Given the description of an element on the screen output the (x, y) to click on. 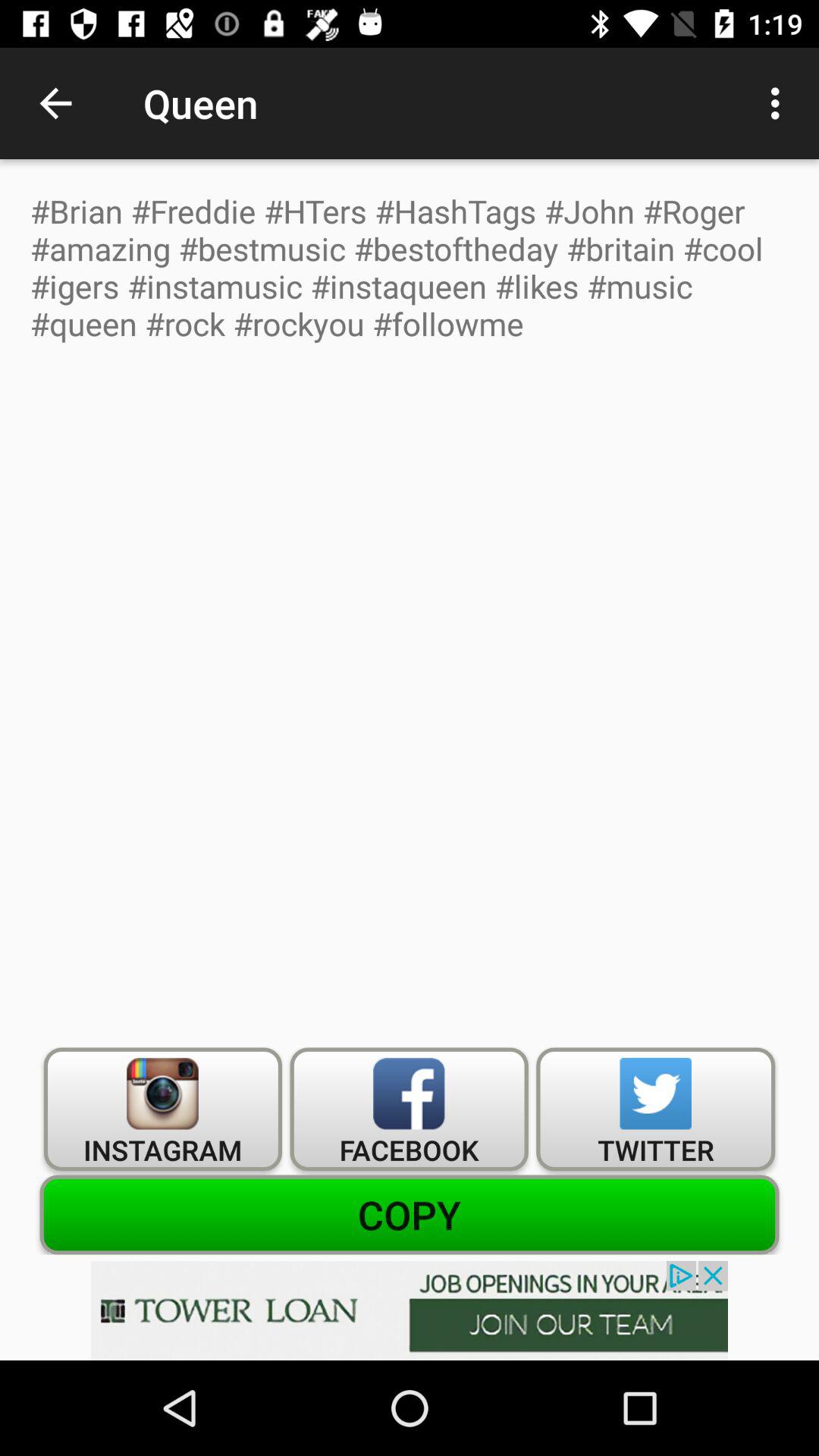
advertisement (409, 1310)
